Given the description of an element on the screen output the (x, y) to click on. 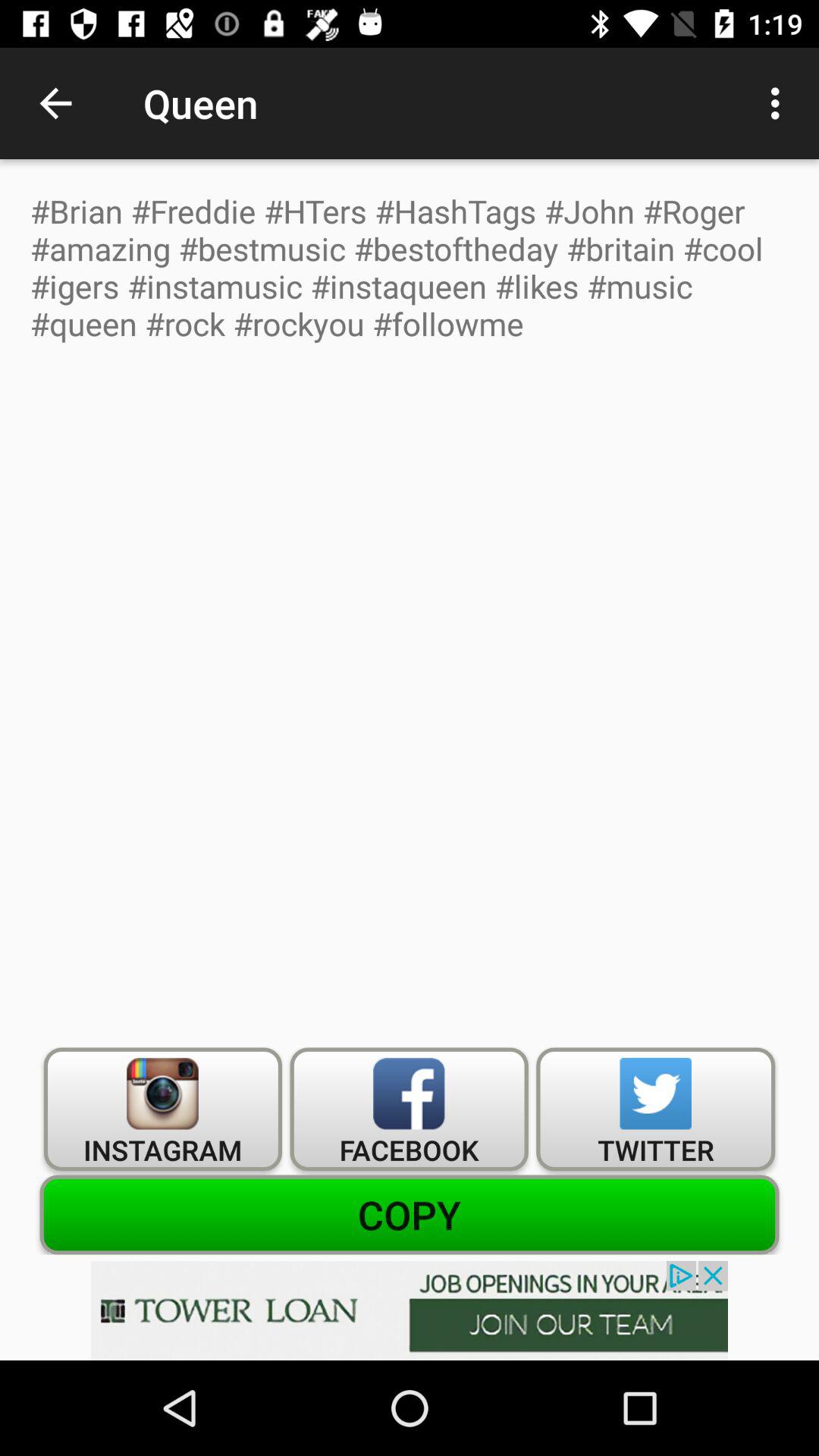
advertisement (409, 1310)
